Given the description of an element on the screen output the (x, y) to click on. 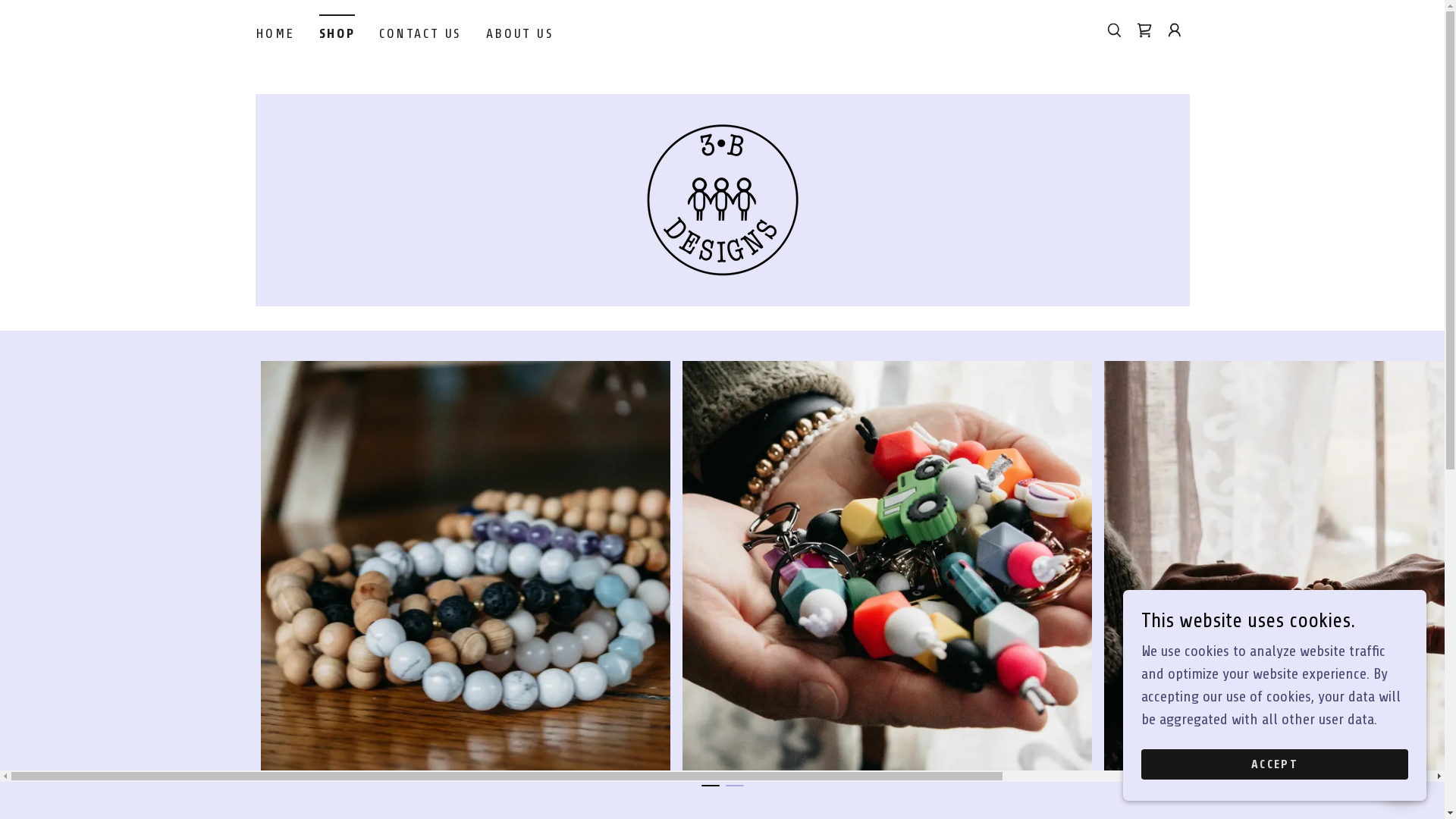
HOME Element type: text (274, 33)
ABOUT US Element type: text (519, 33)
CONTACT US Element type: text (420, 33)
SHOP Element type: text (336, 28)
3B Designs Element type: hover (721, 198)
ACCEPT Element type: text (1274, 764)
